Given the description of an element on the screen output the (x, y) to click on. 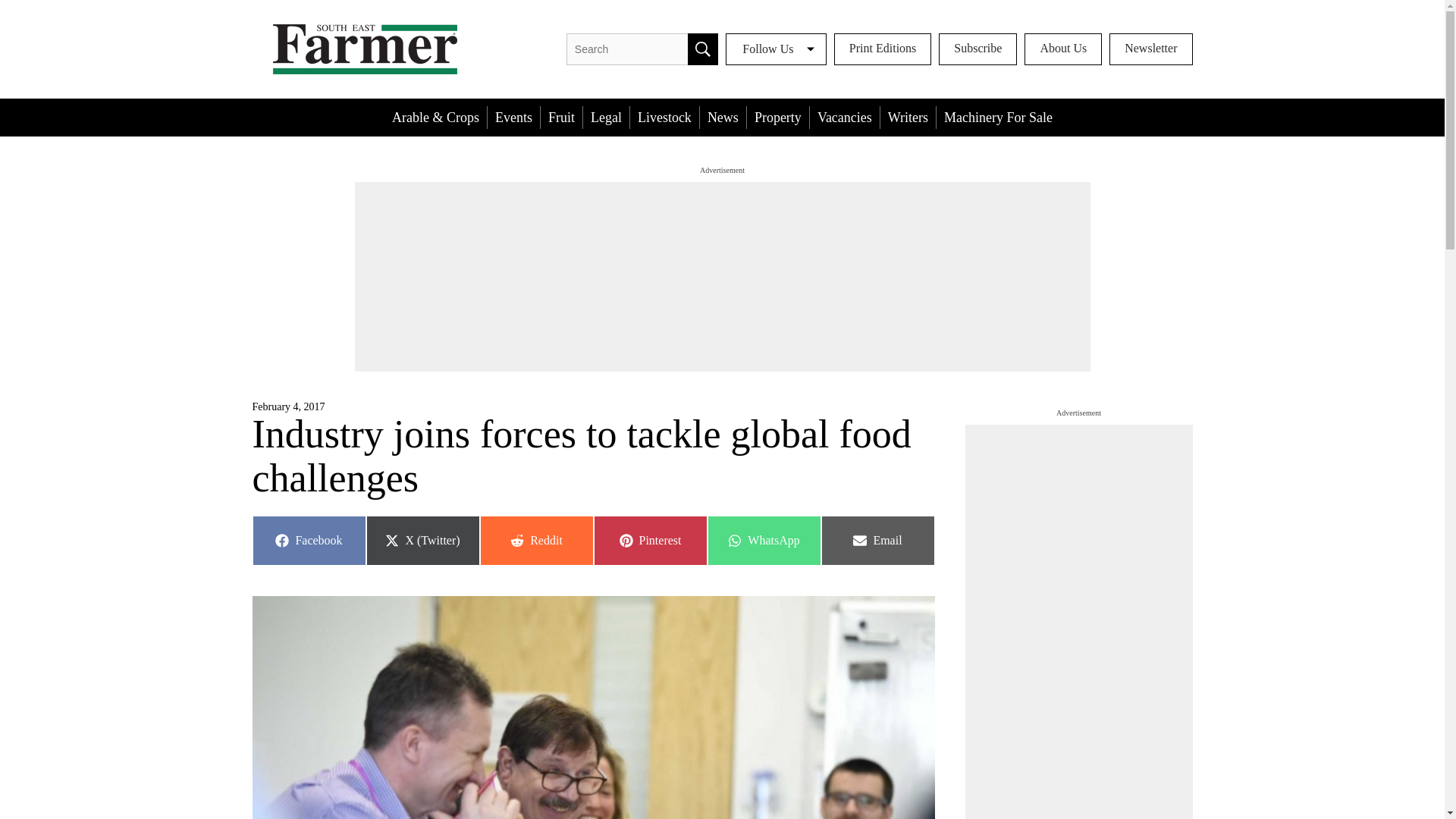
Newsletter (763, 540)
Machinery For Sale (1150, 49)
Print Editions (997, 117)
News (882, 49)
Vacancies (722, 117)
Search (844, 117)
Property (702, 49)
Subscribe (777, 117)
